Given the description of an element on the screen output the (x, y) to click on. 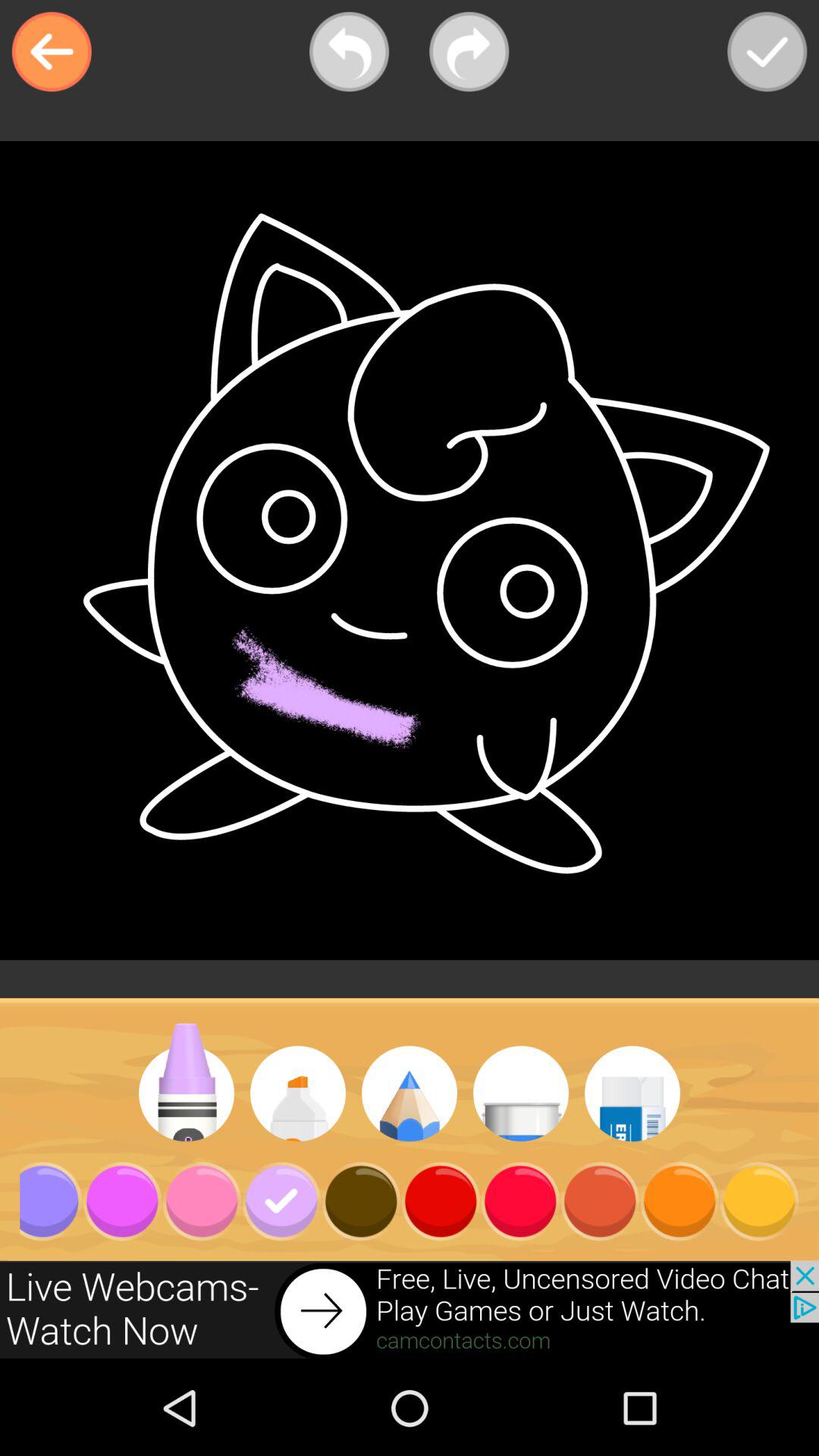
check option (767, 51)
